Given the description of an element on the screen output the (x, y) to click on. 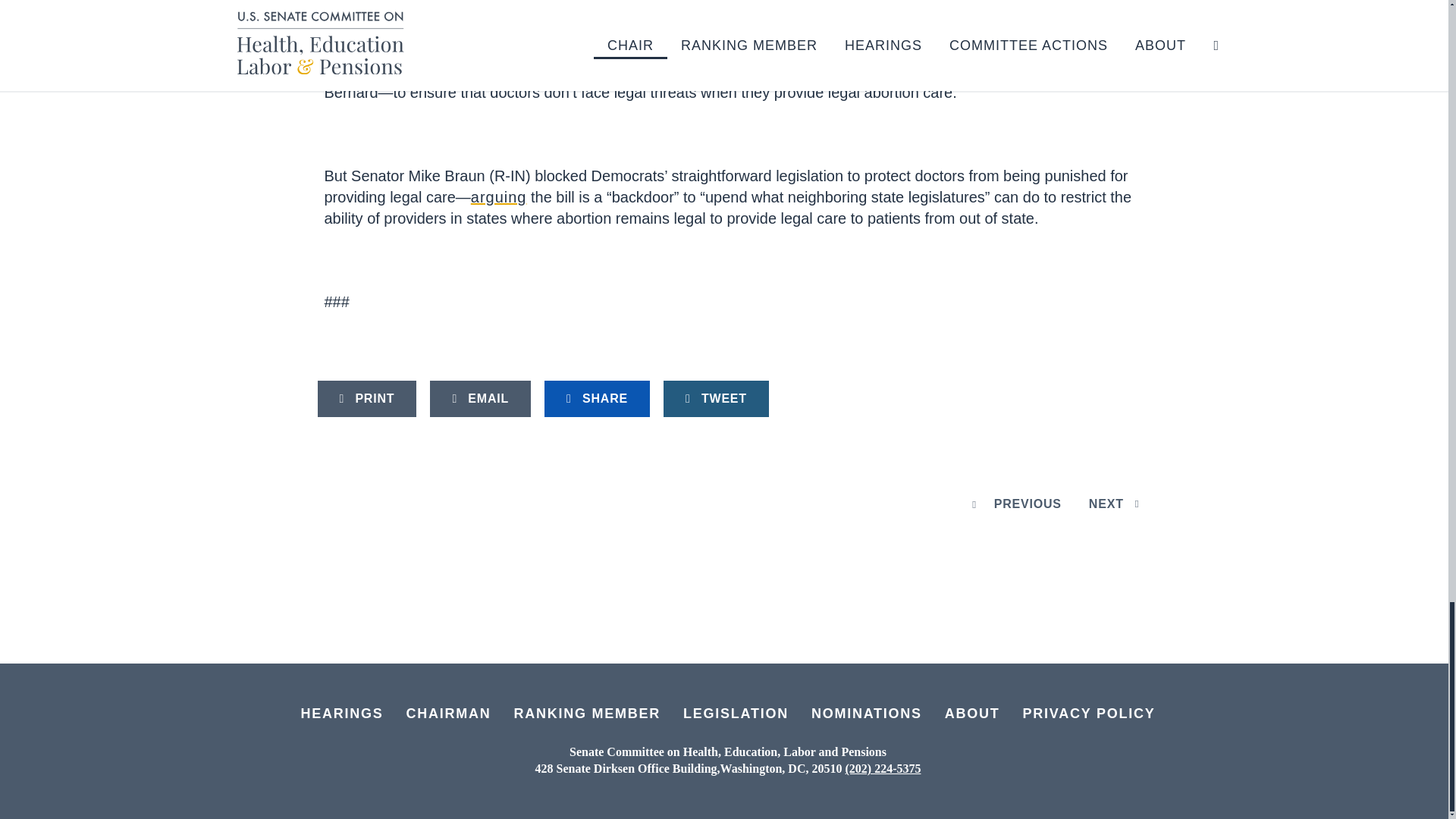
About (972, 713)
Chairman (449, 713)
Nominations (865, 713)
Hearings (340, 713)
Privacy Policy (1089, 713)
Ranking Member (587, 713)
Legislation (735, 713)
